Given the description of an element on the screen output the (x, y) to click on. 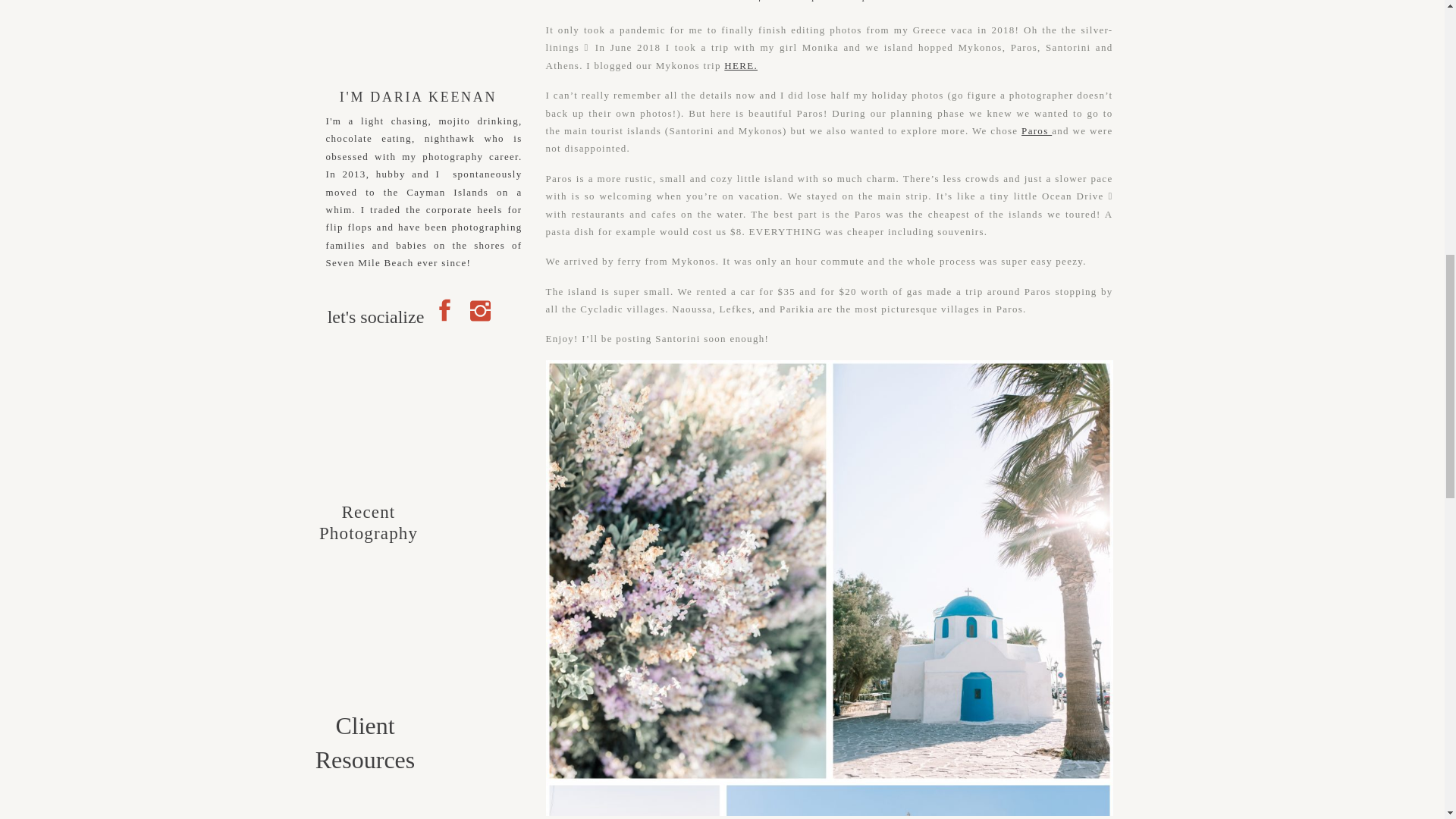
personal posts (850, 0)
Recent Photography (368, 515)
Client Resources (364, 722)
Paros (1036, 130)
HERE. (740, 65)
